Given the description of an element on the screen output the (x, y) to click on. 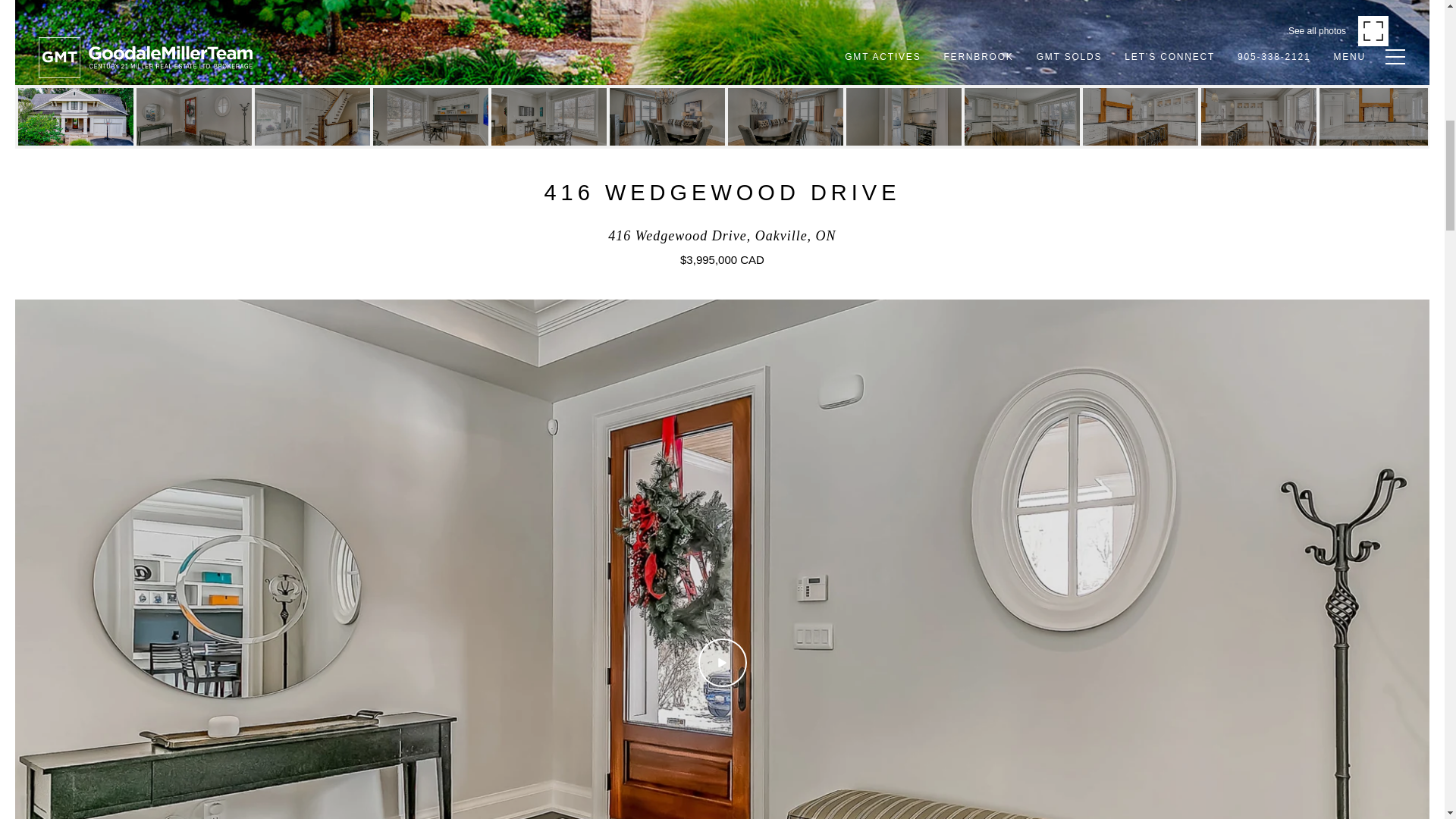
See all photos (1338, 30)
